Given the description of an element on the screen output the (x, y) to click on. 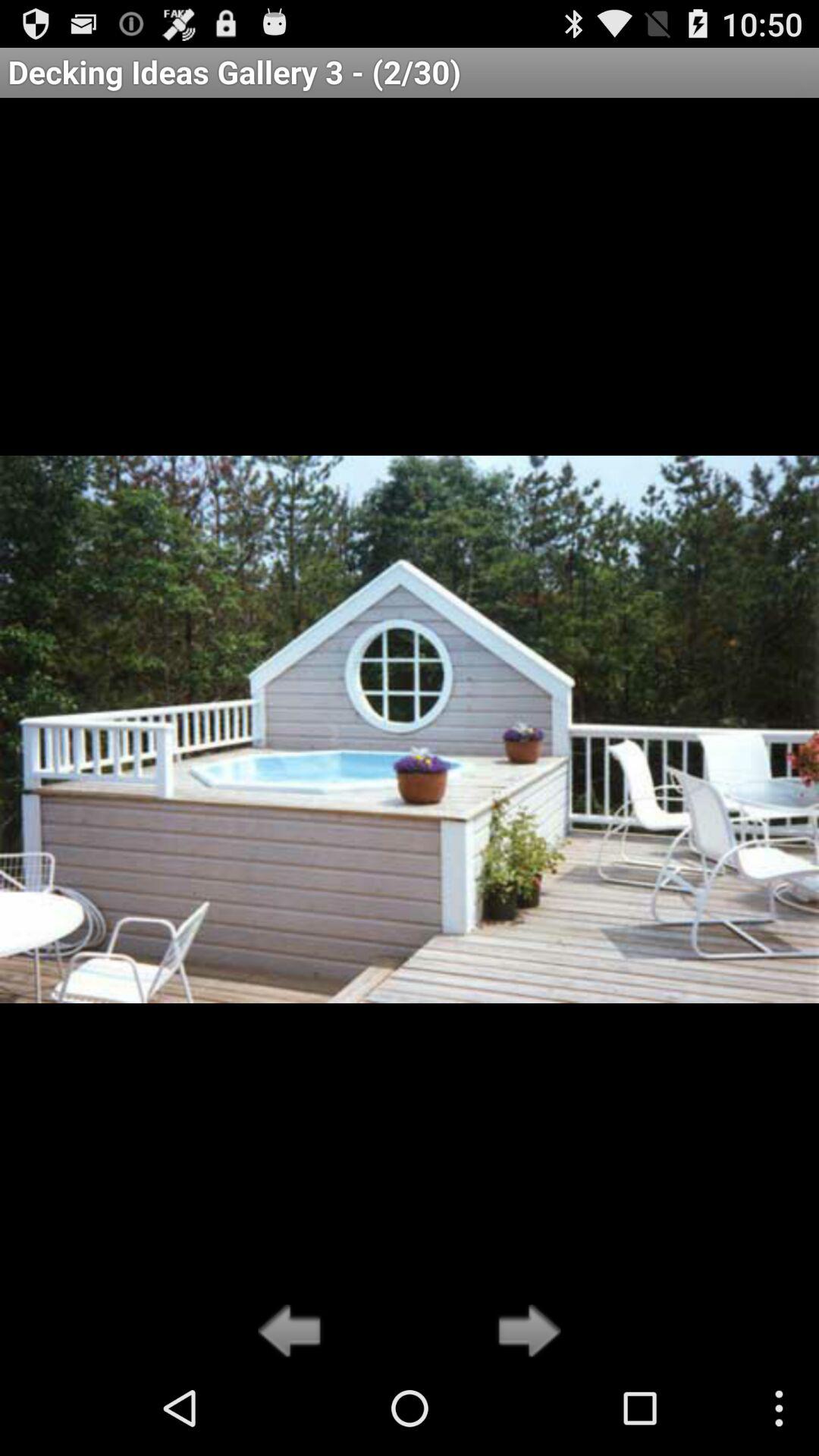
back (293, 1332)
